Given the description of an element on the screen output the (x, y) to click on. 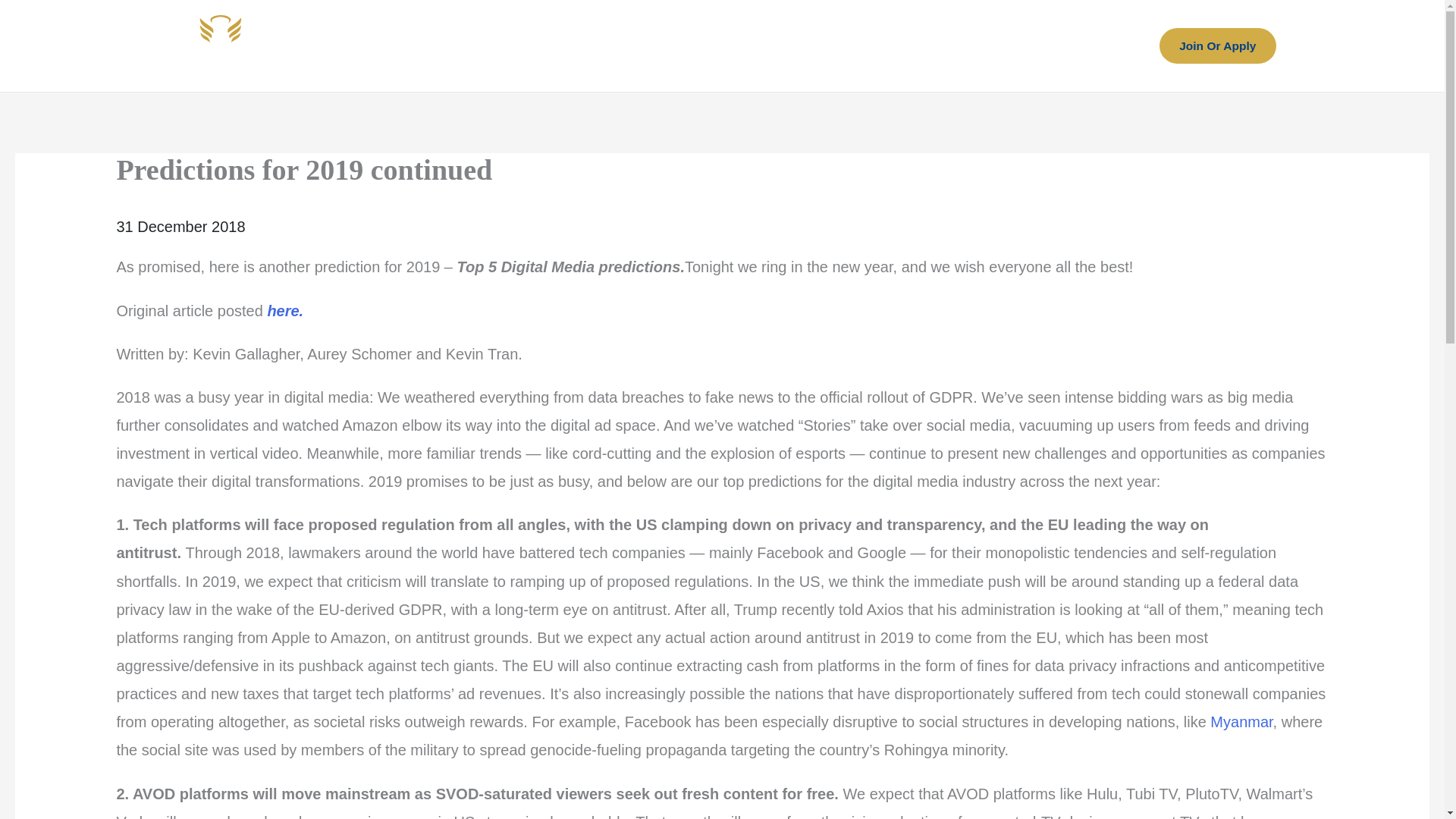
About (377, 45)
GAN Xcelerate Fund (763, 45)
For Entrepreneurs (608, 45)
GAN Angel Investing Winter Summit (973, 45)
Join Or Apply (1216, 45)
For Investors (474, 45)
